Given the description of an element on the screen output the (x, y) to click on. 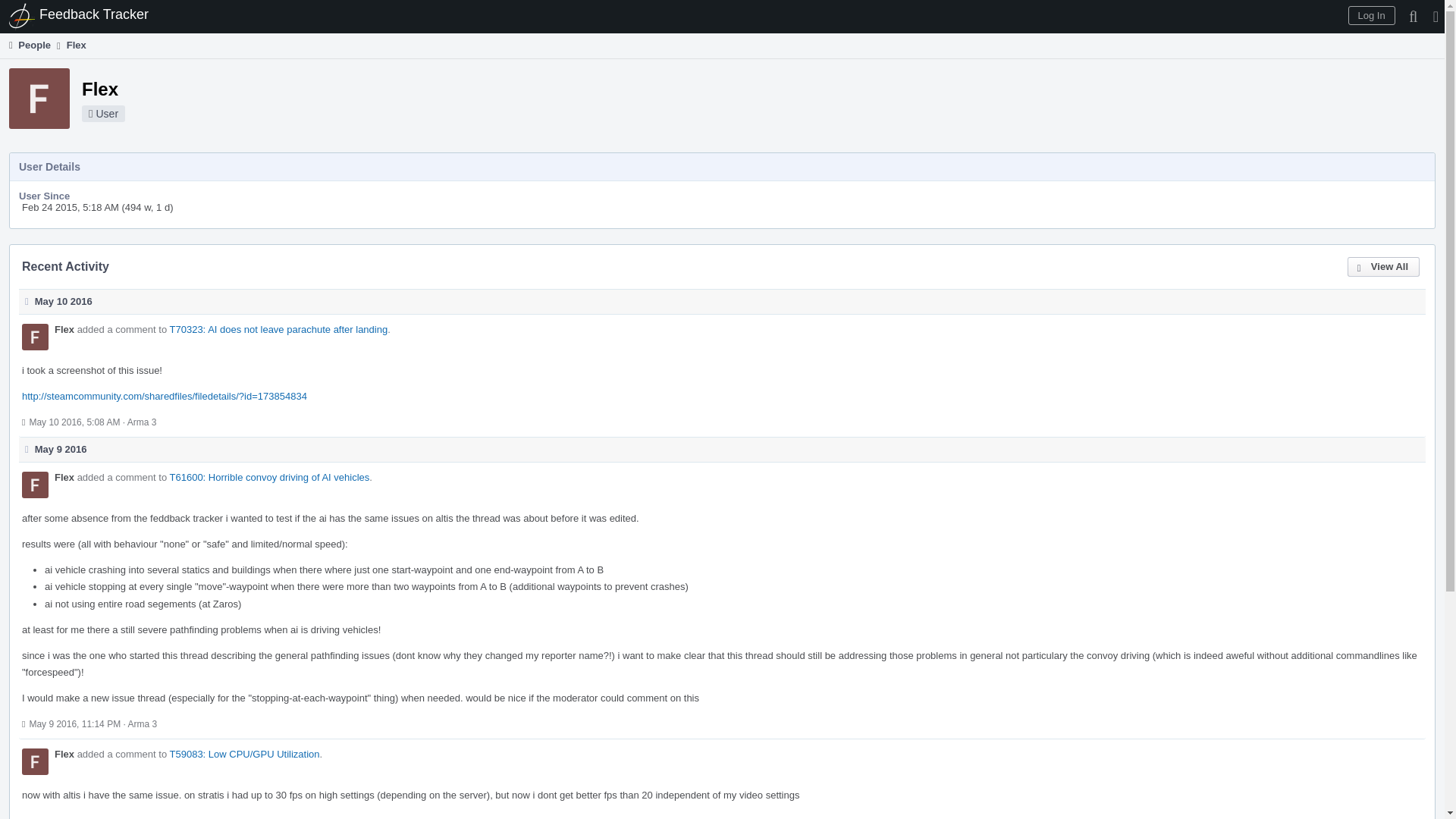
May 9 2016, 11:14 PM (74, 724)
View All (1383, 266)
Arma 3 (142, 421)
T70323: AI does not leave parachute after landing (279, 328)
Feedback Tracker (78, 16)
Flex (64, 328)
People (27, 44)
Log In (1371, 15)
May 10 2016, 5:08 AM (74, 421)
T61600: Horrible convoy driving of AI vehicles (269, 477)
